Given the description of an element on the screen output the (x, y) to click on. 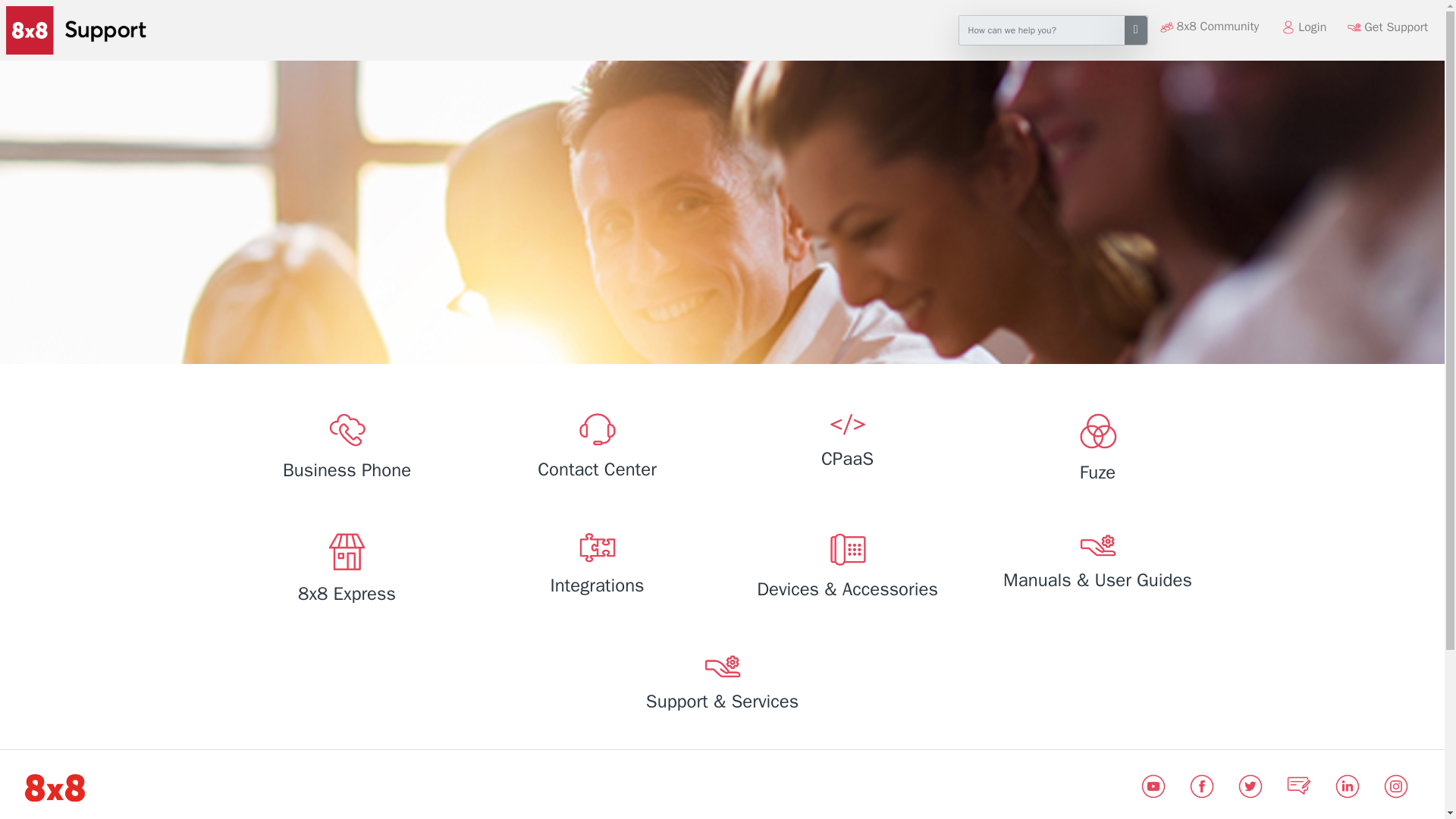
Home (73, 29)
8x8 Express (346, 571)
8x8 Community (1217, 26)
Integrations (596, 567)
Fuze (1096, 451)
Contact Center (596, 449)
8x8 Community (1217, 26)
Get Support (1396, 27)
Get Support (1387, 26)
Searchbar (1041, 30)
Business Phone (346, 449)
Homepage (54, 786)
Get Support (1396, 27)
Search form (1053, 30)
Login (1303, 26)
